Given the description of an element on the screen output the (x, y) to click on. 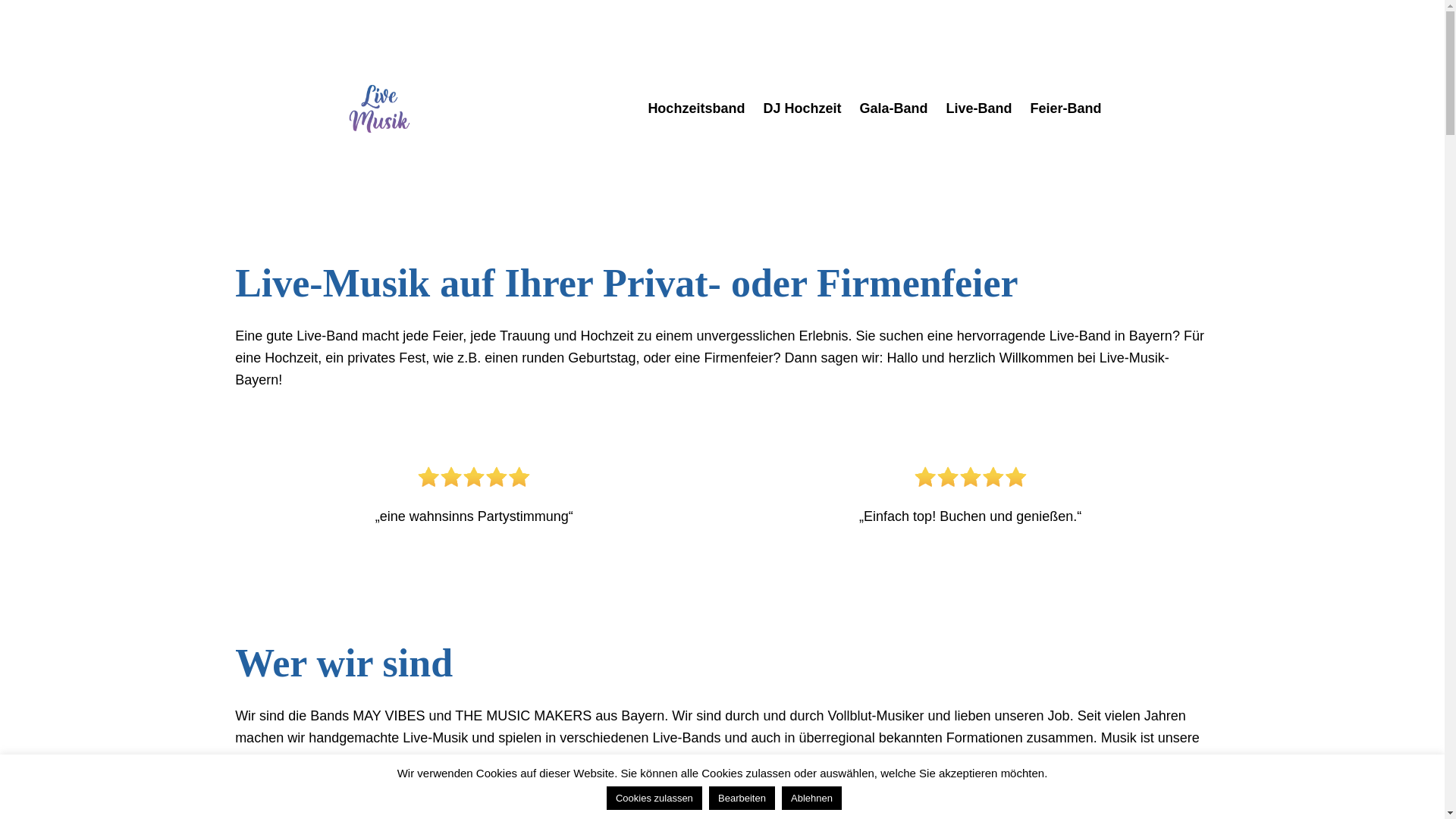
Live-Band Element type: text (978, 108)
Cookies zulassen Element type: text (654, 797)
Feier-Band Element type: text (1065, 108)
Bearbeiten Element type: text (742, 797)
Ablehnen Element type: text (811, 797)
Hochzeitsband Element type: text (695, 108)
DJ Hochzeit Element type: text (801, 108)
Gala-Band Element type: text (893, 108)
